Given the description of an element on the screen output the (x, y) to click on. 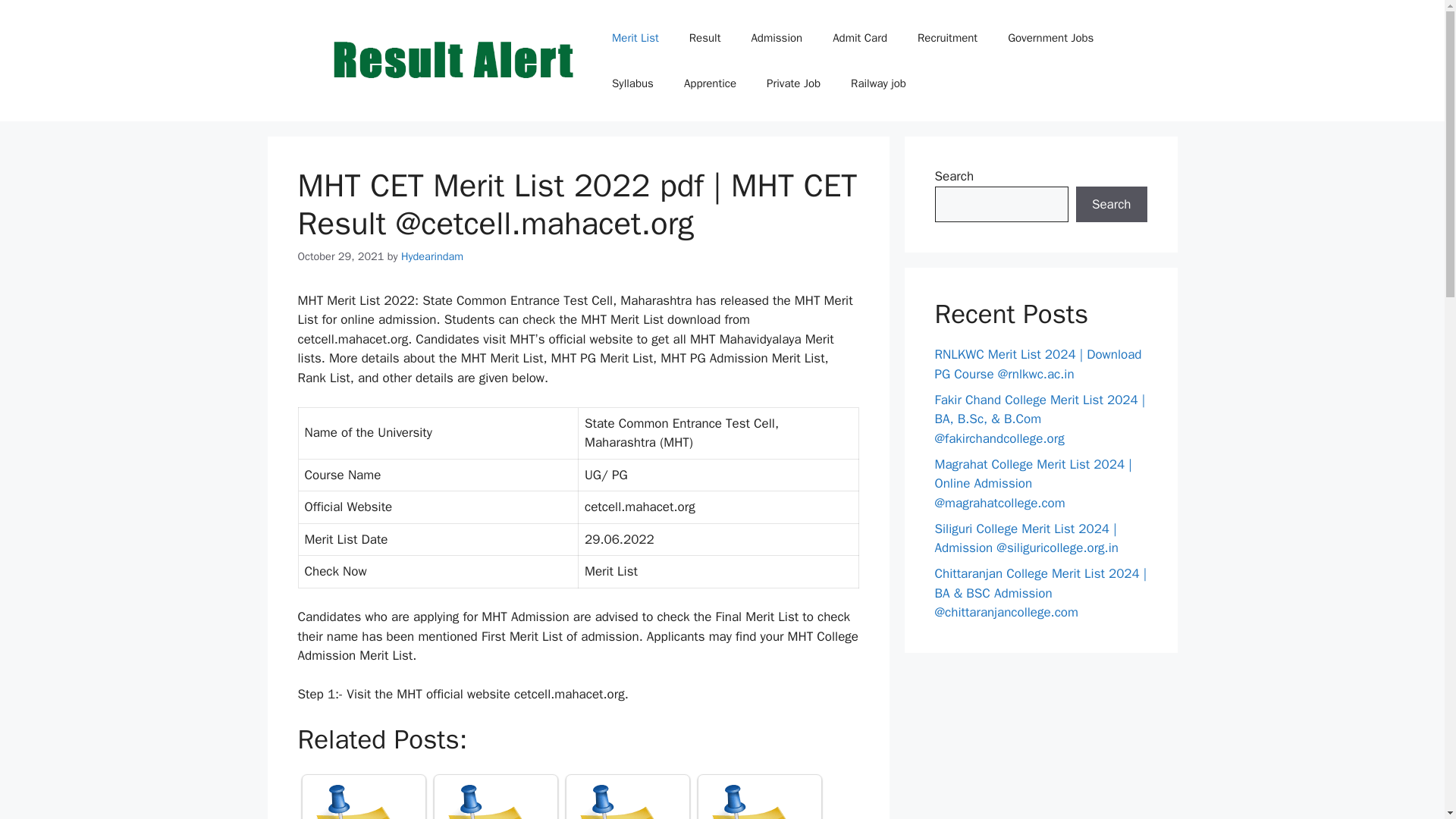
Railway job (878, 83)
Private Job (793, 83)
View all posts by Hydearindam (432, 255)
Admission (775, 37)
Apprentice (709, 83)
Syllabus (632, 83)
Recruitment (947, 37)
Result (705, 37)
Merit List (635, 37)
Government Jobs (1050, 37)
